Given the description of an element on the screen output the (x, y) to click on. 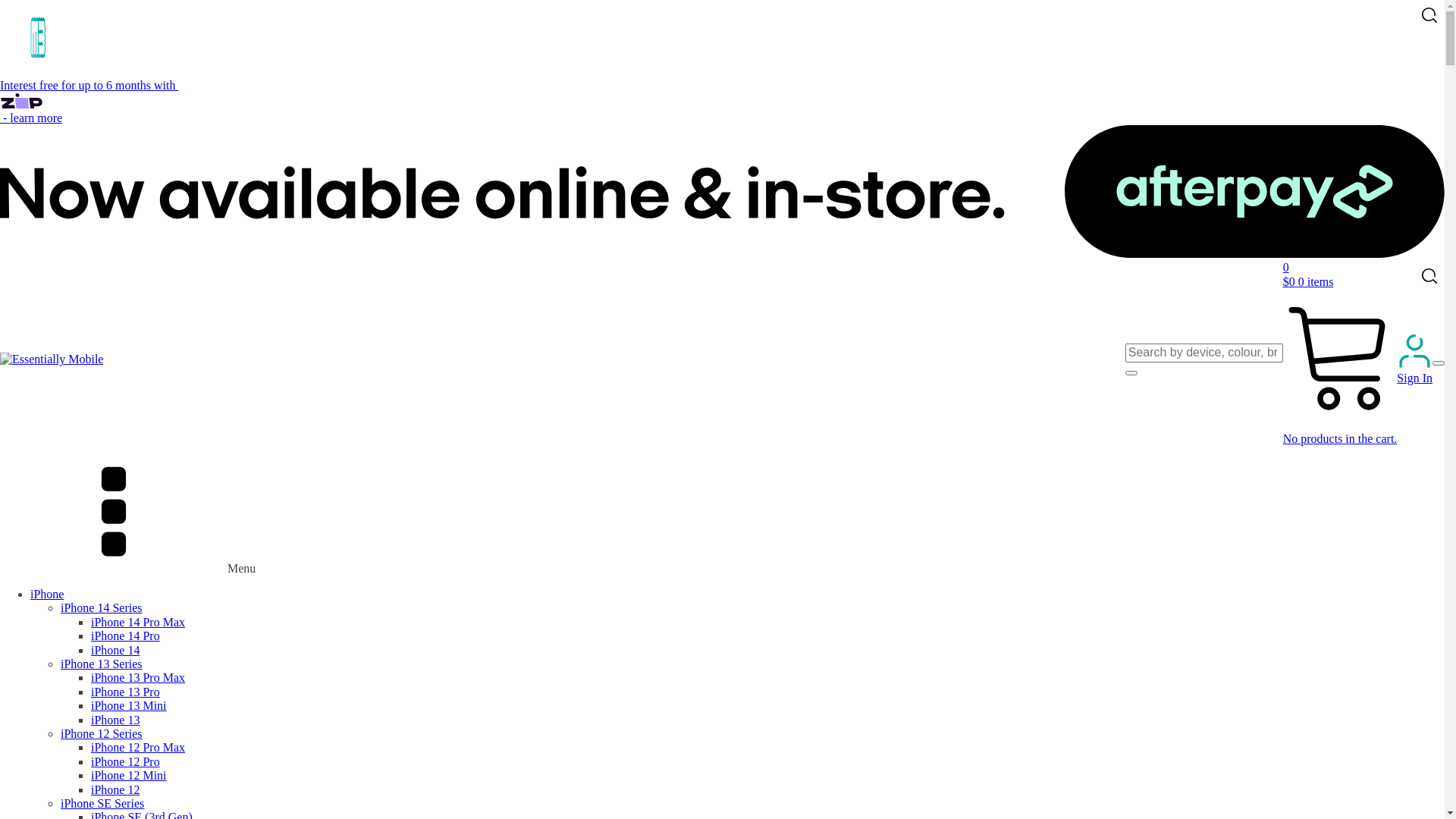
iPhone 13 Pro Max Element type: text (138, 677)
iPhone 12 Series Element type: text (101, 733)
iPhone 14 Pro Element type: text (125, 635)
iPhone 13 Series Element type: text (101, 663)
iPhone 12 Pro Element type: text (125, 761)
0
$0 0 items
No products in the cart. Element type: text (1340, 352)
iPhone Element type: text (46, 593)
iPhone SE Series Element type: text (102, 803)
iPhone 12 Element type: text (115, 789)
iPhone 14 Series Element type: text (101, 607)
iPhone 14 Pro Max Element type: text (138, 621)
iPhone 13 Element type: text (115, 719)
Sign In Element type: text (1414, 359)
iPhone 14 Element type: text (115, 649)
iPhone 13 Mini Element type: text (128, 705)
iPhone 12 Pro Max Element type: text (138, 746)
iPhone 13 Pro Element type: text (125, 691)
Interest free for up to 6 months with 
 - learn more Element type: text (722, 169)
iPhone 12 Mini Element type: text (128, 774)
